Given the description of an element on the screen output the (x, y) to click on. 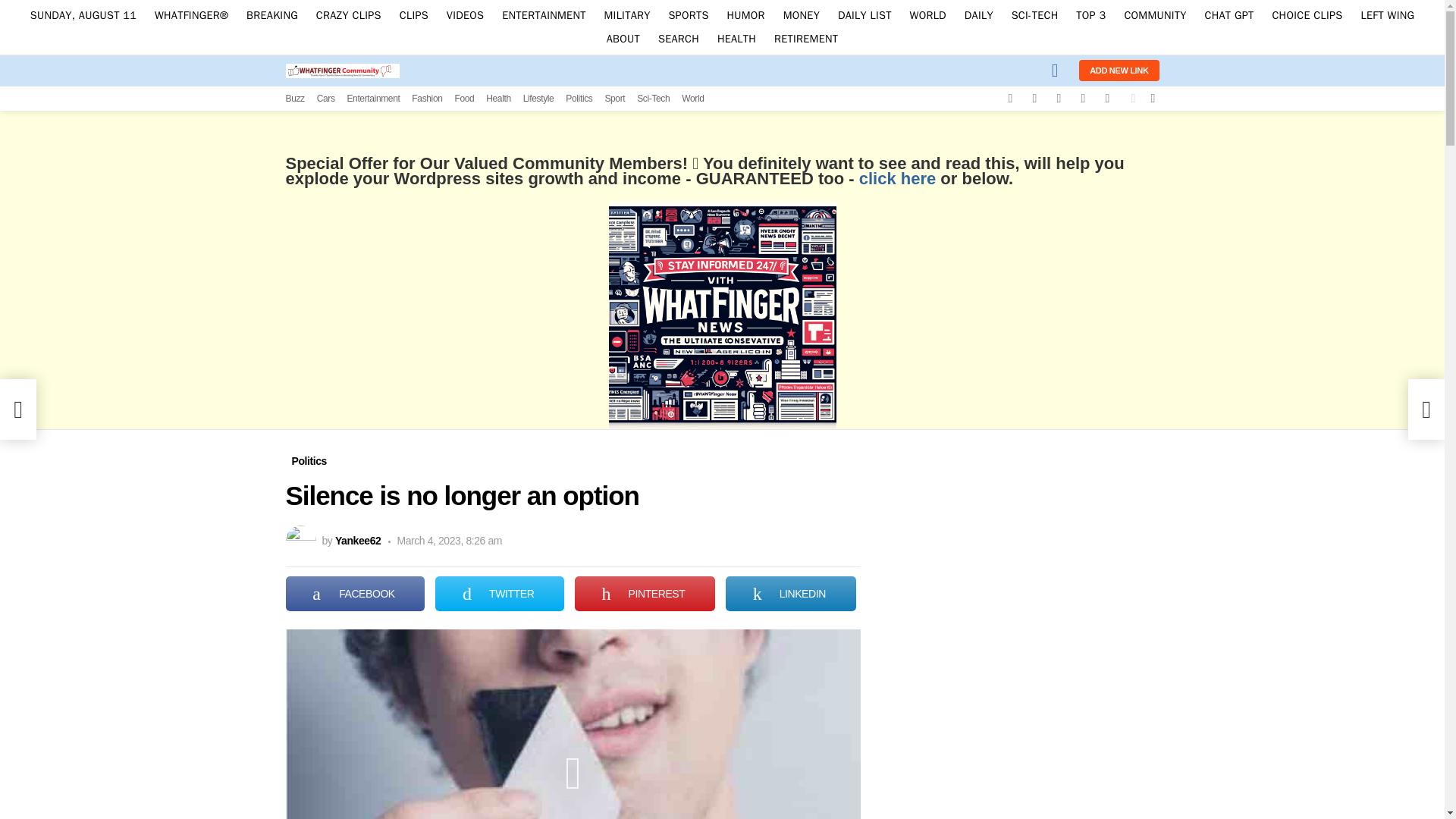
SCI-TECH (1034, 15)
HEALTH (736, 38)
BREAKING (271, 15)
ABOUT (622, 38)
DAILY (978, 15)
SPORTS (688, 15)
RETIREMENT (806, 38)
Share on LinkedIn (790, 593)
DAILY LIST (864, 15)
LEFT WING (1387, 15)
